Given the description of an element on the screen output the (x, y) to click on. 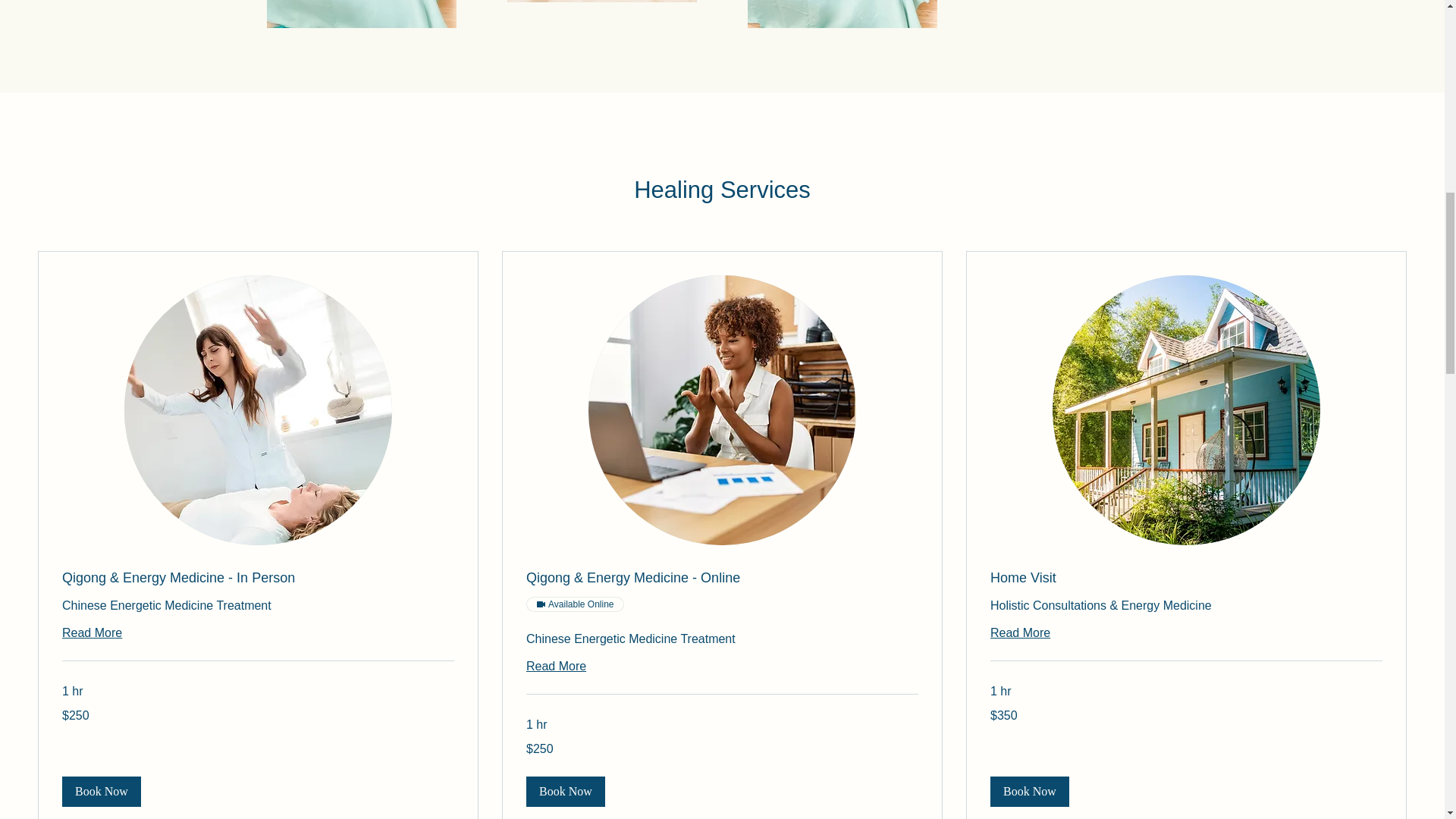
Book Now (565, 791)
Read More (1185, 633)
Read More (721, 666)
Book Now (1029, 791)
Read More (258, 633)
Home Visit (1185, 578)
Book Now (101, 791)
